Given the description of an element on the screen output the (x, y) to click on. 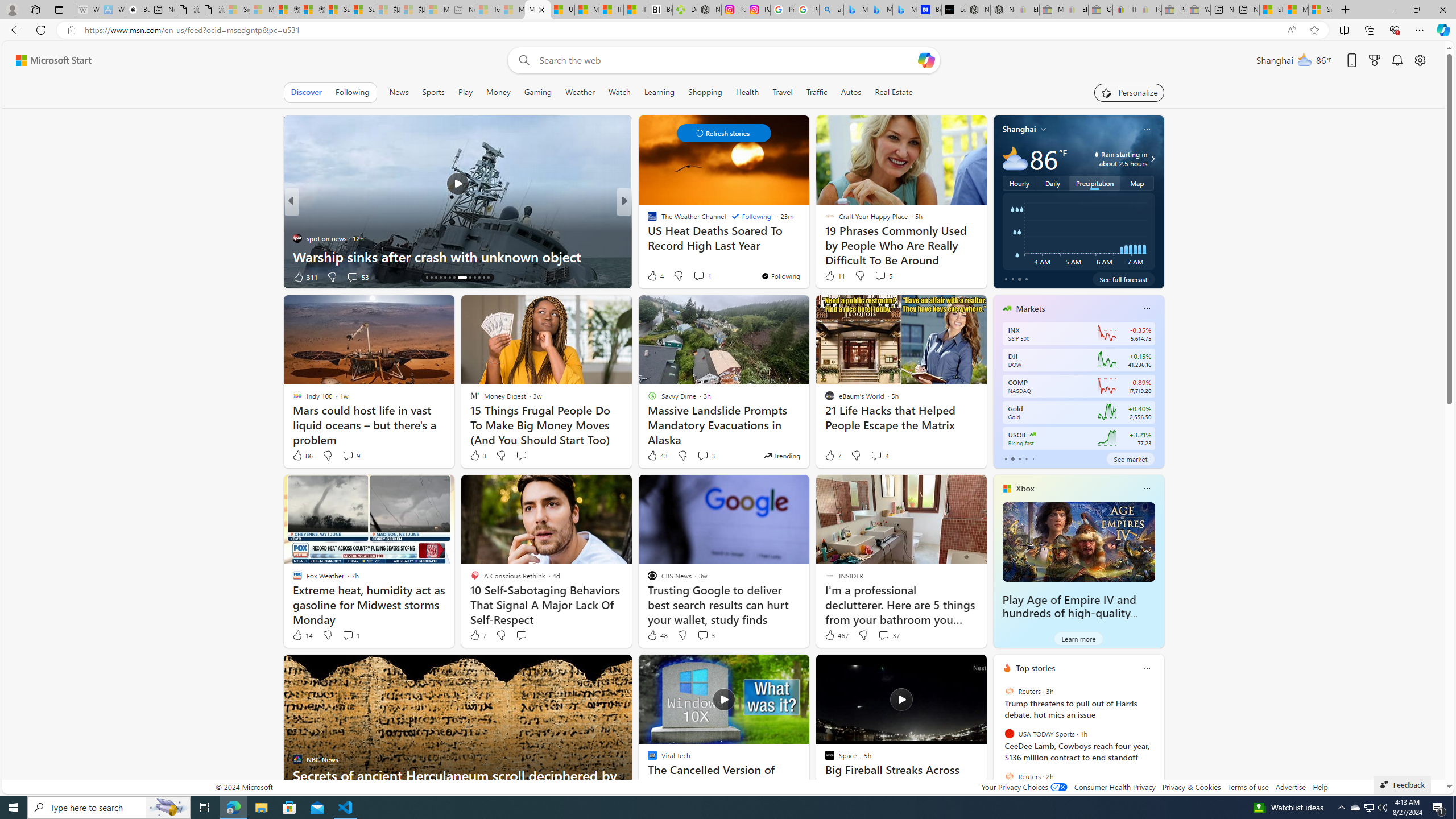
View comments 2 Comment (702, 276)
AutomationID: tab-17 (440, 277)
3 Like (477, 455)
The Register (647, 238)
water-drop-icon Rain starting in about 2.5 hours (1110, 158)
